Given the description of an element on the screen output the (x, y) to click on. 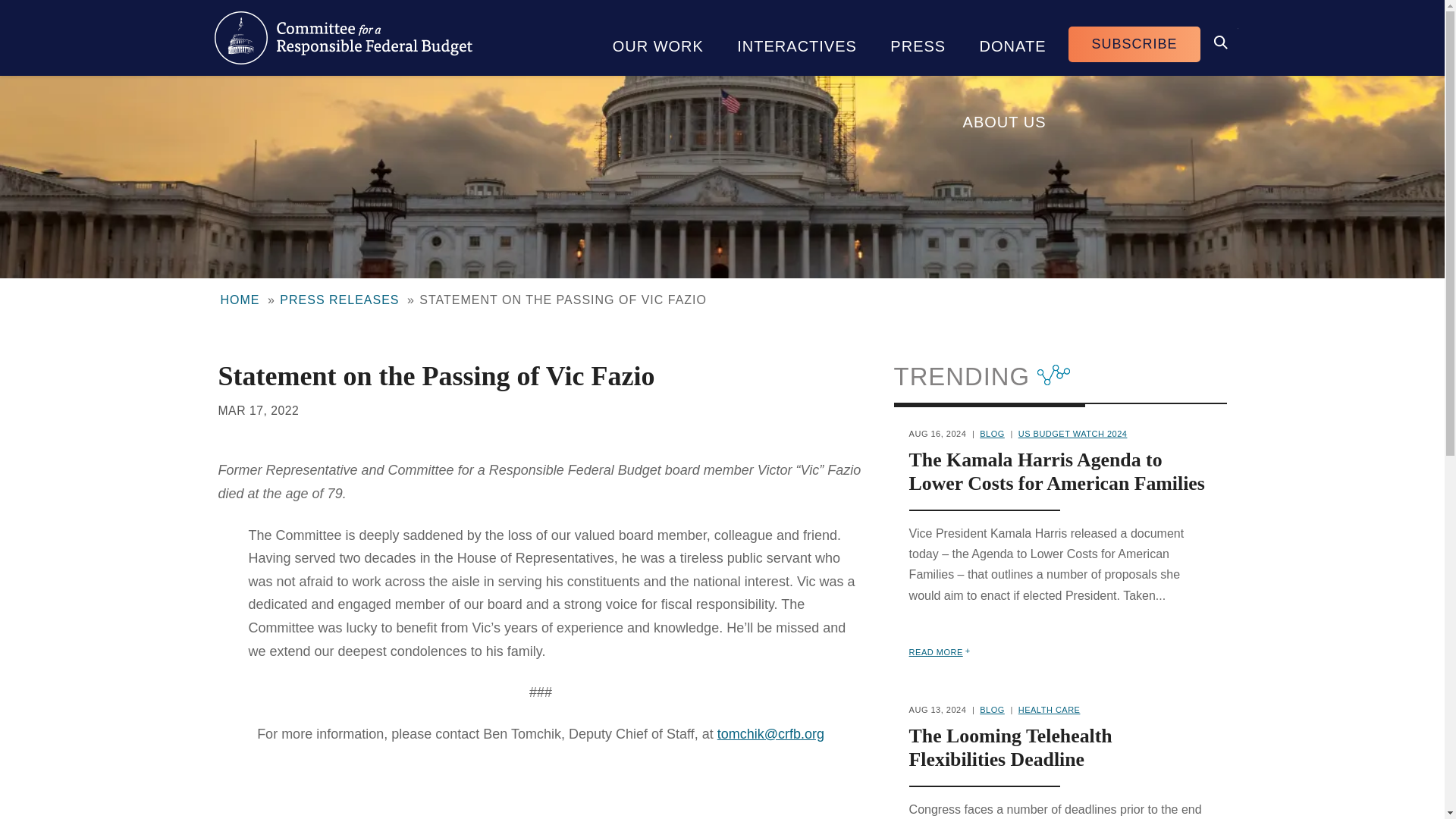
Committee for a Responsible Federal Budget (342, 37)
INTERACTIVES (797, 38)
OUR WORK (657, 38)
ABOUT US (1004, 113)
DONATE (1012, 38)
PRESS (917, 38)
